Given the description of an element on the screen output the (x, y) to click on. 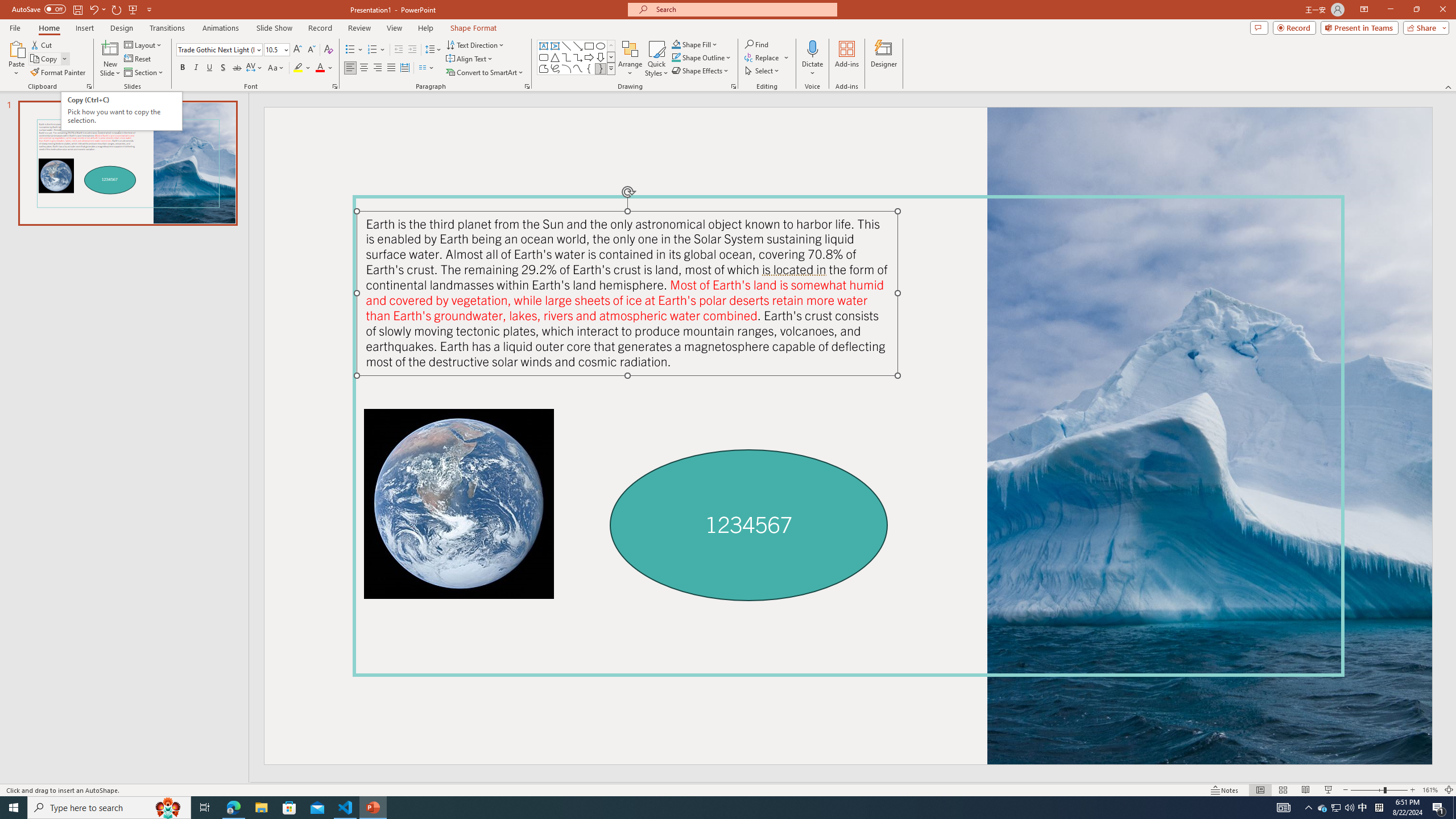
Shape Fill Aqua, Accent 2 (675, 44)
